Given the description of an element on the screen output the (x, y) to click on. 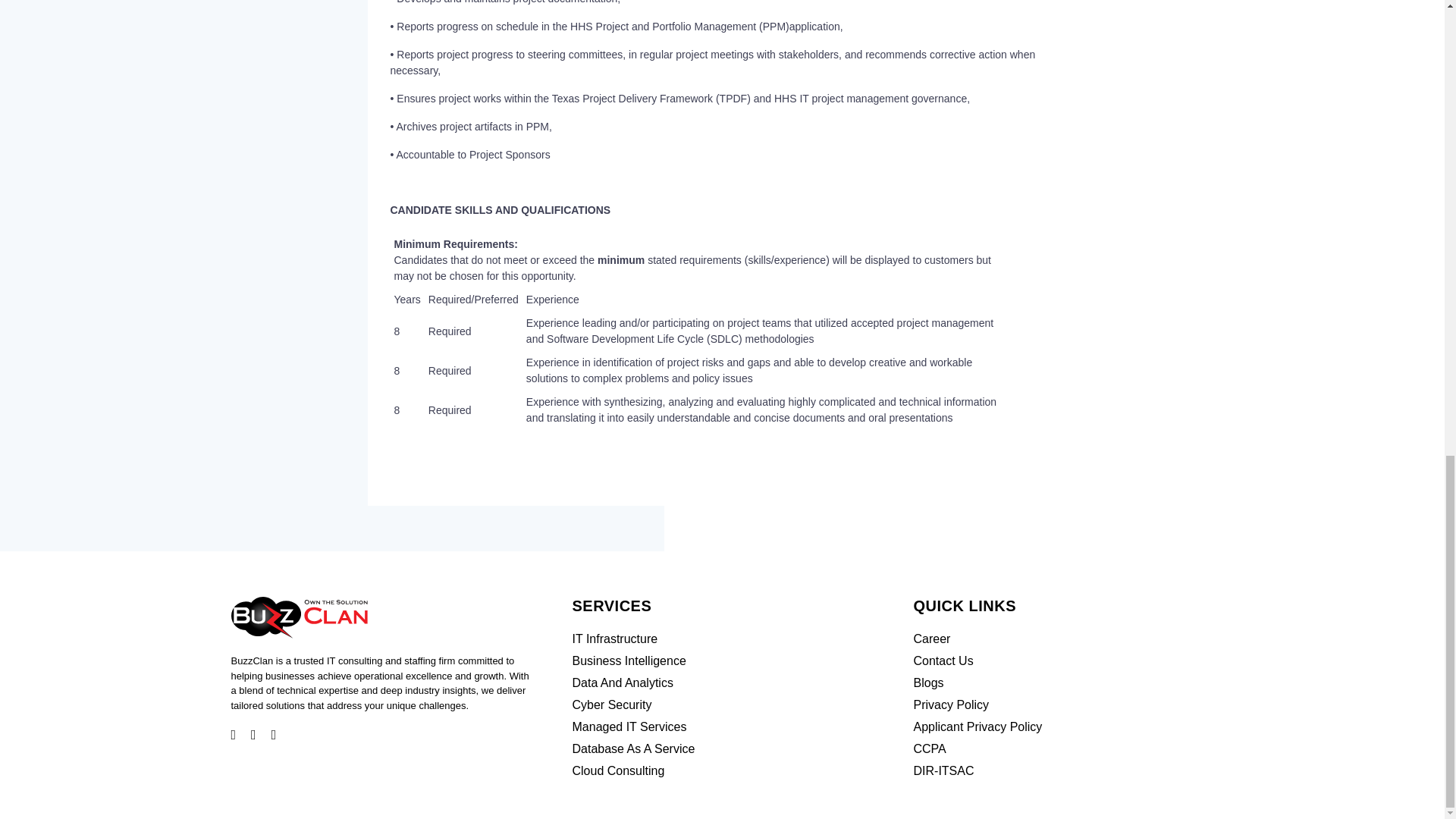
Business Intelligence (628, 660)
Cloud Consulting (617, 770)
Database As A Service (633, 748)
Cyber Security (611, 704)
Privacy Policy (950, 704)
CCPA (928, 748)
IT Infrastructure (615, 638)
DIR-ITSAC (943, 770)
Blogs (927, 682)
Managed IT Services (628, 726)
